Given the description of an element on the screen output the (x, y) to click on. 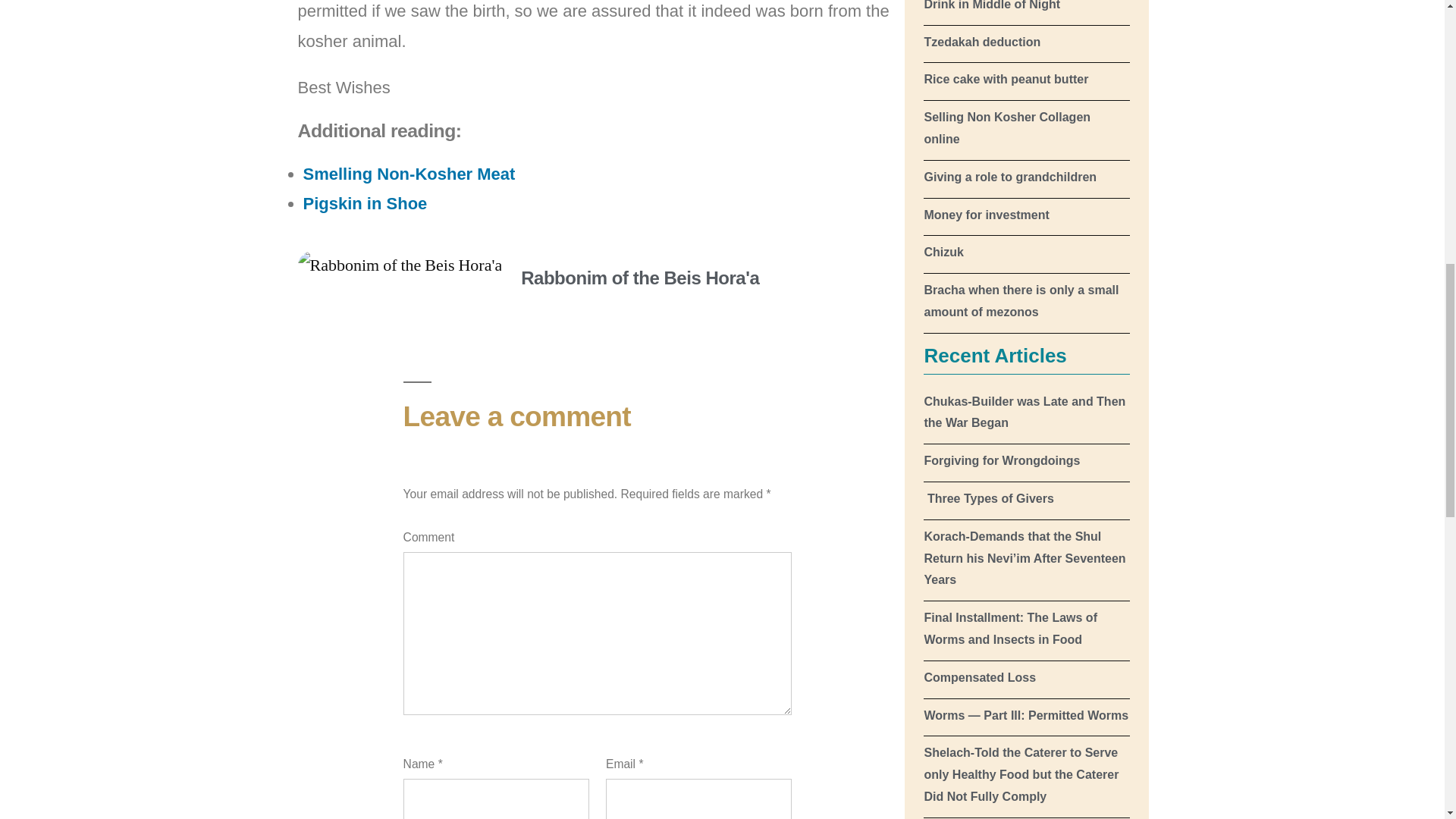
Smelling Non-Kosher Meat (408, 173)
Pigskin in Shoe (365, 203)
Pigskin in Shoe (365, 203)
Smelling Non-Kosher Meat (408, 173)
